Given the description of an element on the screen output the (x, y) to click on. 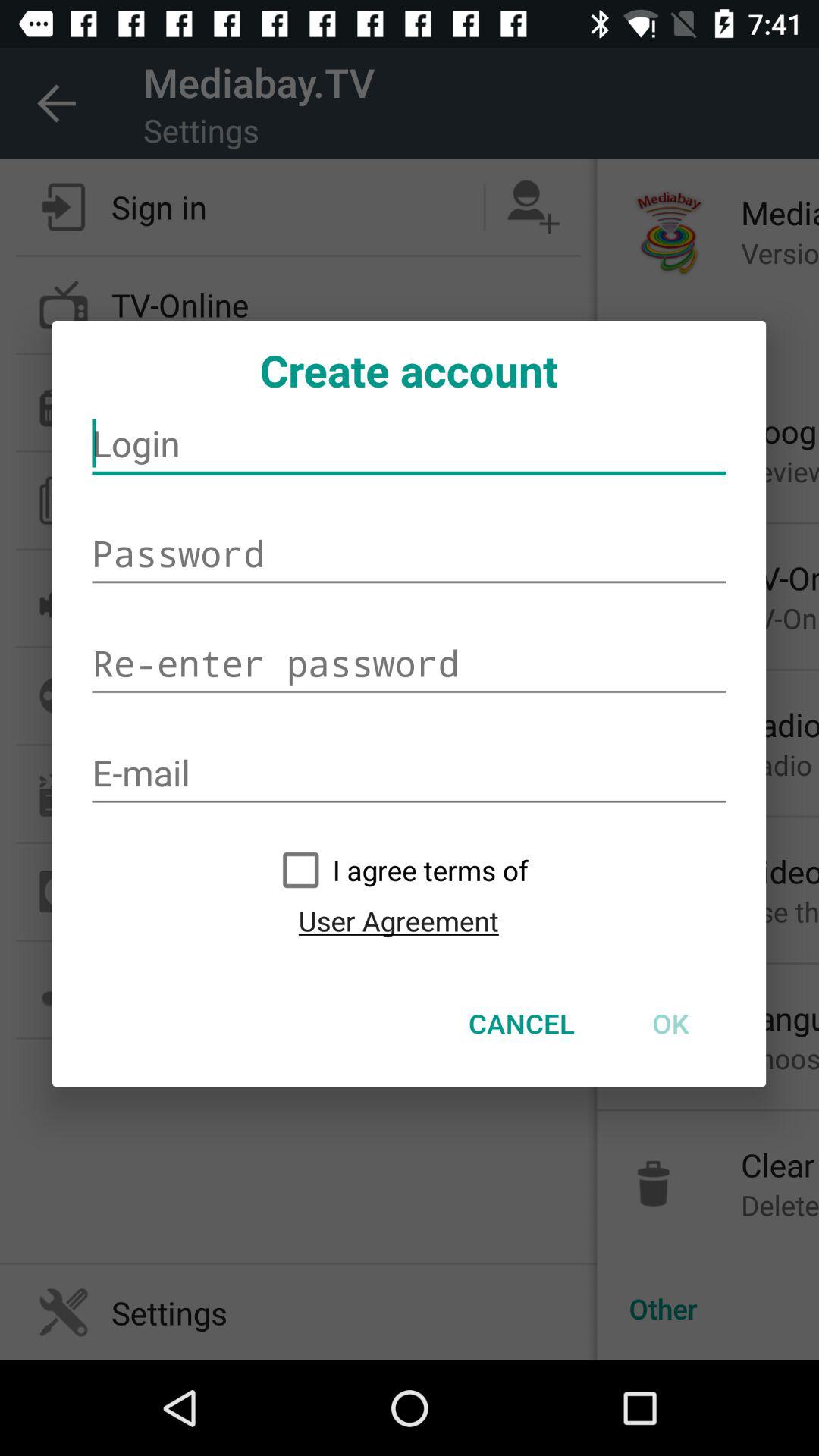
jump until the i agree terms item (398, 870)
